Given the description of an element on the screen output the (x, y) to click on. 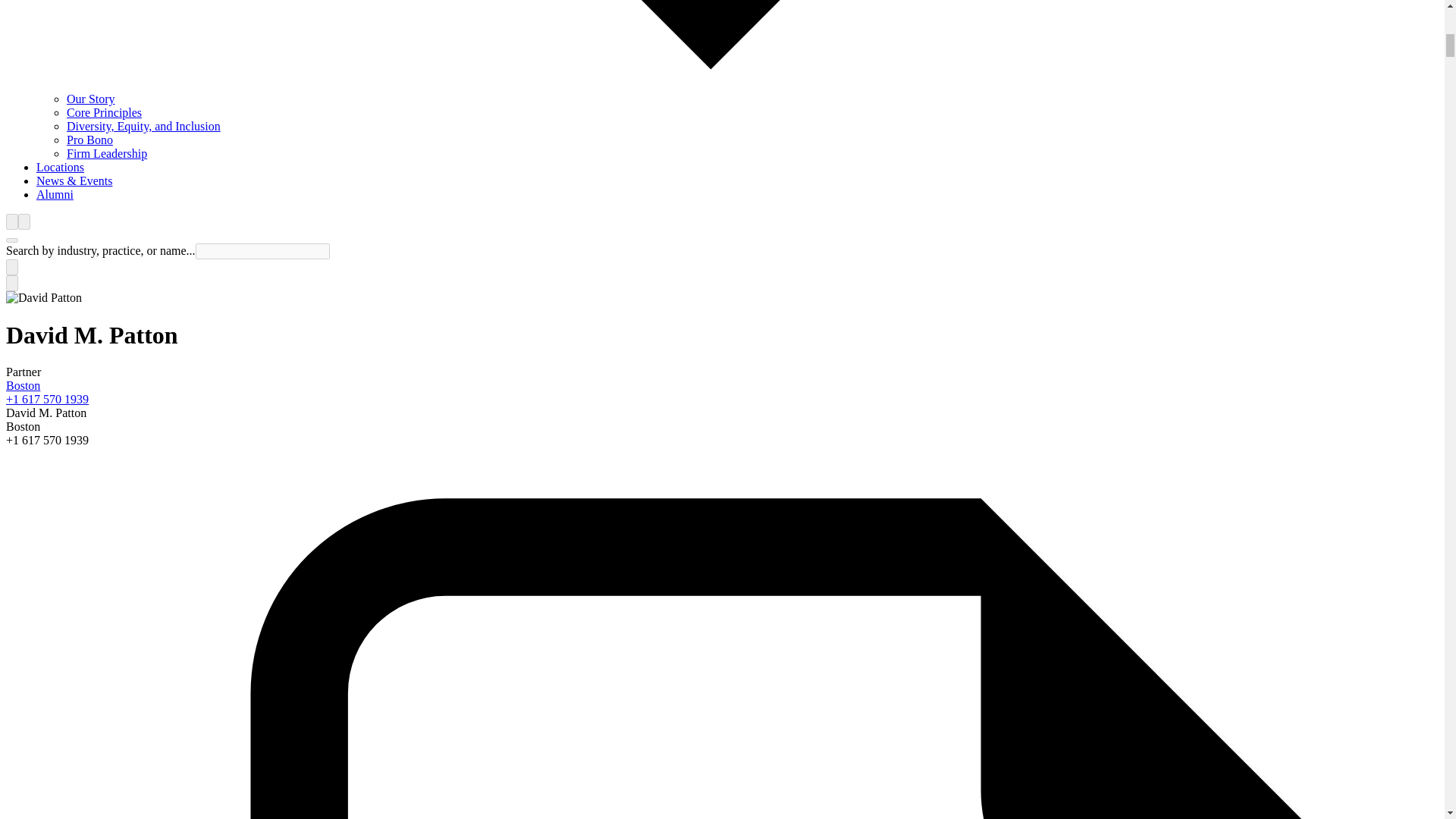
Alumni (55, 194)
Locations (60, 166)
Pro Bono (89, 139)
Firm Leadership (106, 153)
Core Principles (103, 112)
Diversity, Equity, and Inclusion (143, 125)
Our Story (90, 98)
Boston (22, 385)
